Given the description of an element on the screen output the (x, y) to click on. 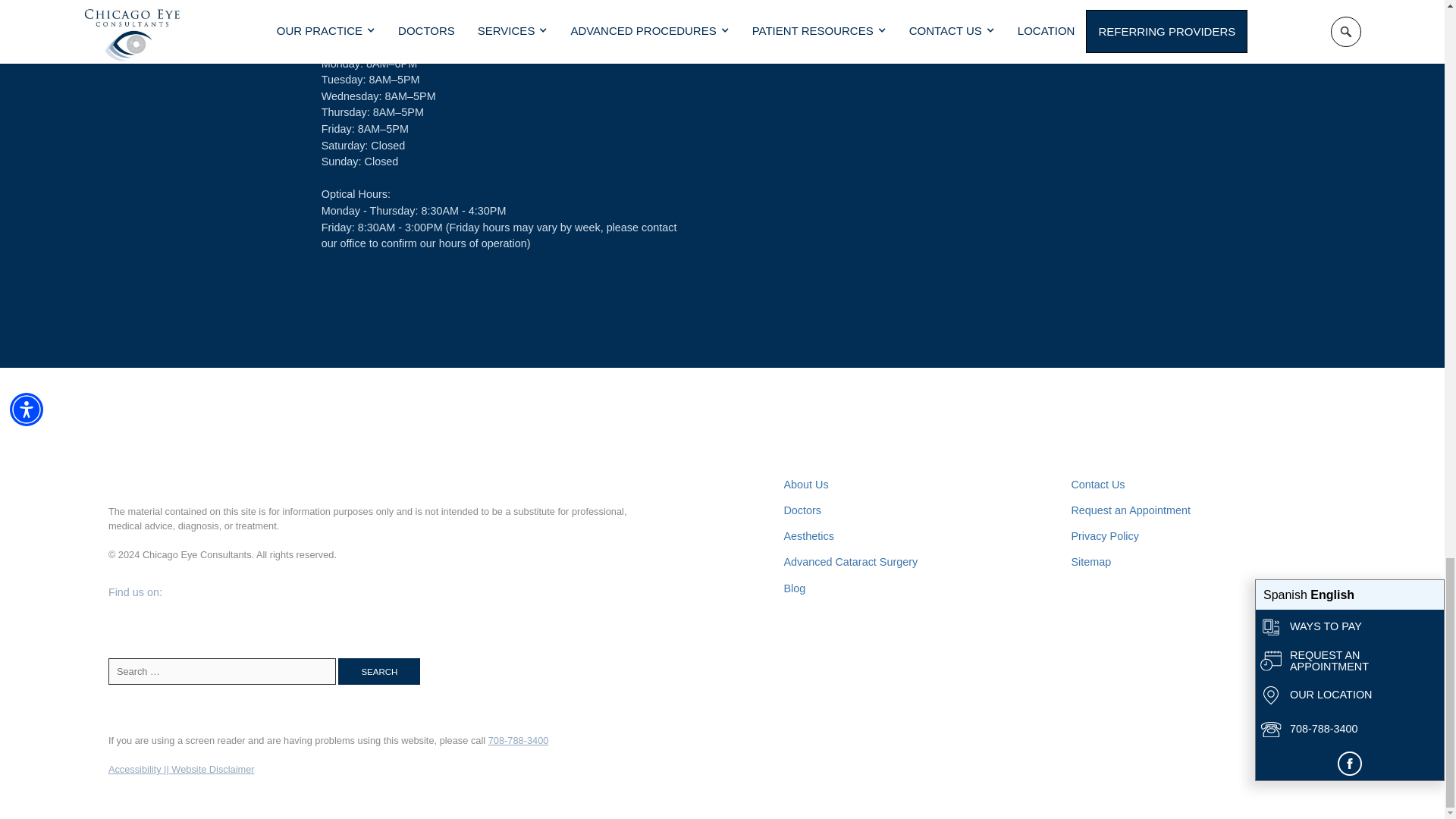
Search (378, 671)
Search (378, 671)
